Given the description of an element on the screen output the (x, y) to click on. 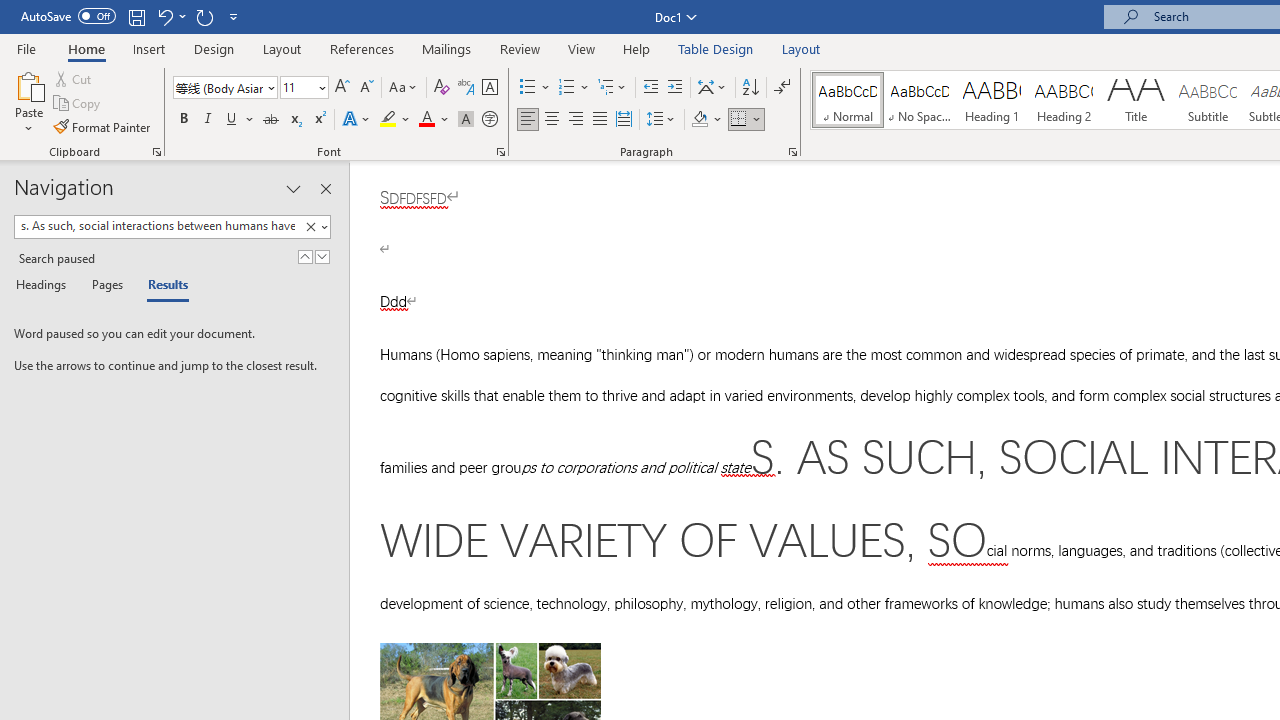
Enclose Characters... (489, 119)
Align Right (575, 119)
Font Color RGB(255, 0, 0) (426, 119)
Change Case (404, 87)
Subtitle (1208, 100)
Superscript (319, 119)
Headings (45, 285)
Increase Indent (675, 87)
Paragraph... (792, 151)
Character Border (489, 87)
